Given the description of an element on the screen output the (x, y) to click on. 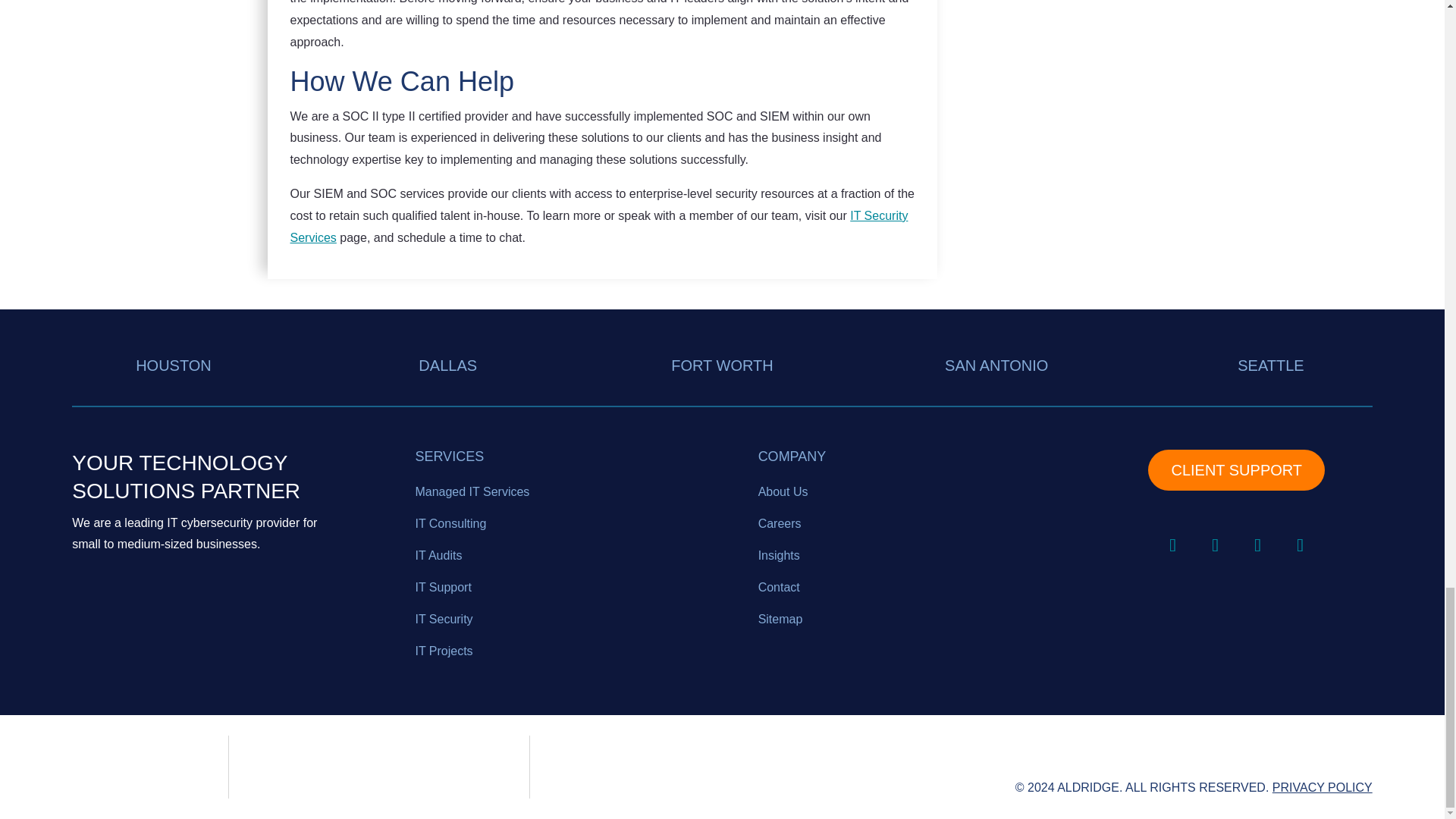
Microsft Partner (378, 770)
Follow on Youtube (1300, 544)
Follow on Facebook (1214, 544)
Follow on LinkedIn (1172, 544)
AICPA SOC (149, 766)
CLIENT SUPPORT (1236, 469)
PRIVACY POLICY (1322, 787)
Follow on X (1258, 544)
IT Security Services (598, 226)
